Given the description of an element on the screen output the (x, y) to click on. 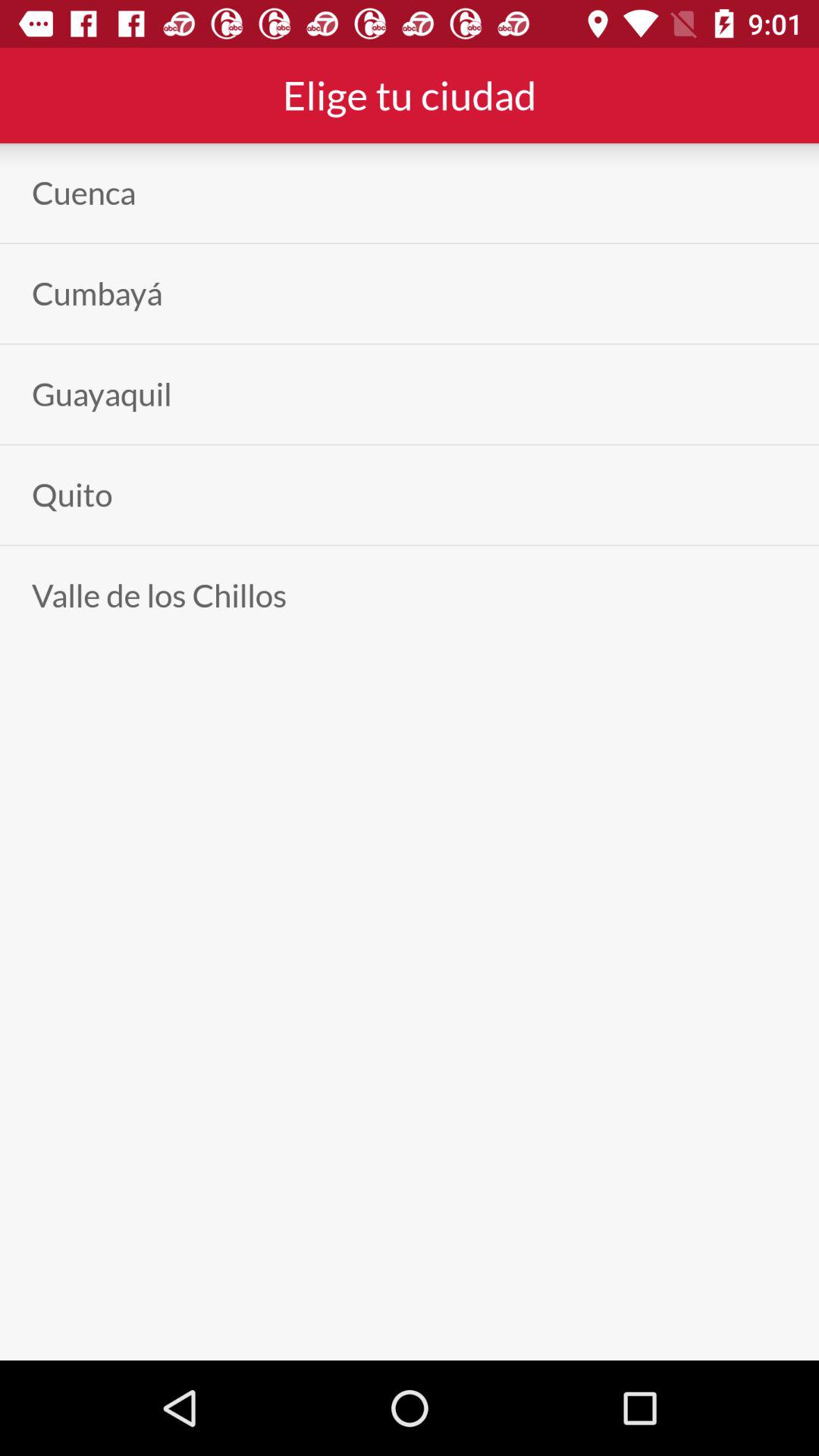
turn off the quito app (71, 495)
